Given the description of an element on the screen output the (x, y) to click on. 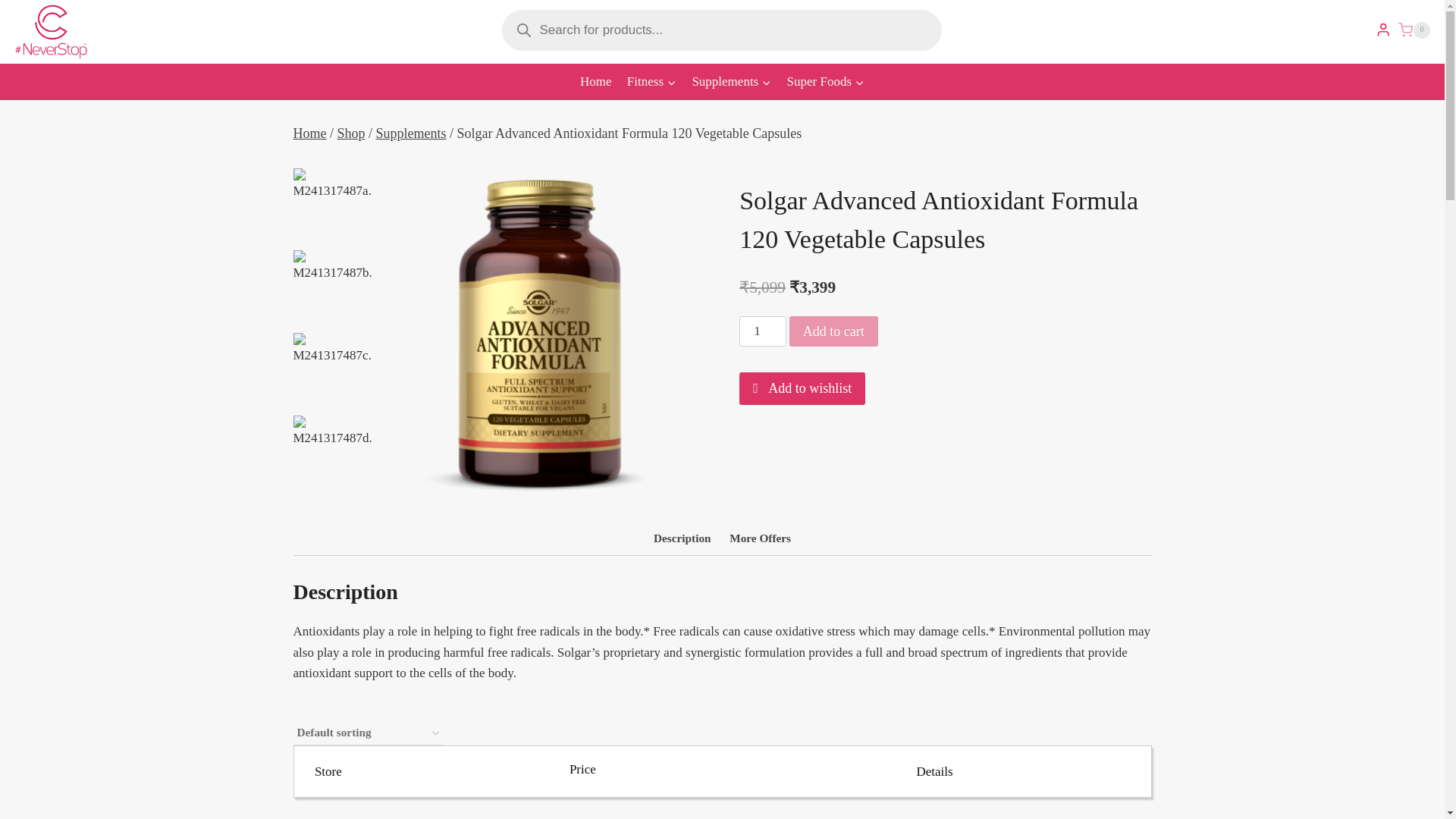
Shop (351, 133)
M241317487a.png (539, 332)
Home (596, 81)
Home (309, 133)
Super Foods (825, 81)
Fitness (652, 81)
1 (762, 331)
Supplements (731, 81)
0 (1413, 30)
Supplements (410, 133)
